Given the description of an element on the screen output the (x, y) to click on. 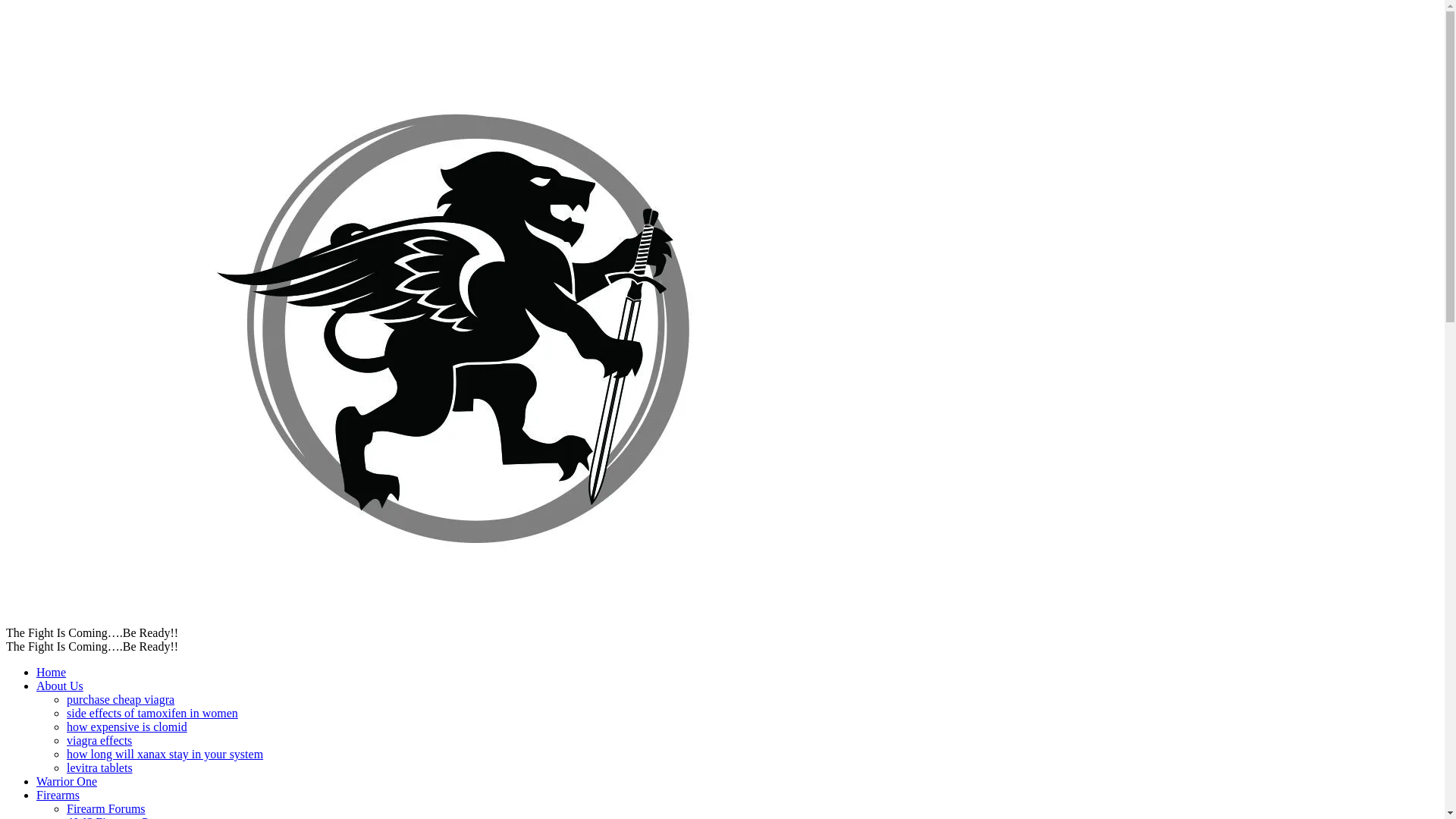
AWS Firearms Programs (126, 817)
viagra effects (99, 739)
Firearms (58, 794)
side effects of tamoxifen in women (152, 712)
purchase cheap viagra (120, 698)
how long will xanax stay in your system (164, 753)
how expensive is clomid (126, 726)
About Us (59, 685)
Firearm Forums (105, 808)
levitra tablets (99, 767)
